Given the description of an element on the screen output the (x, y) to click on. 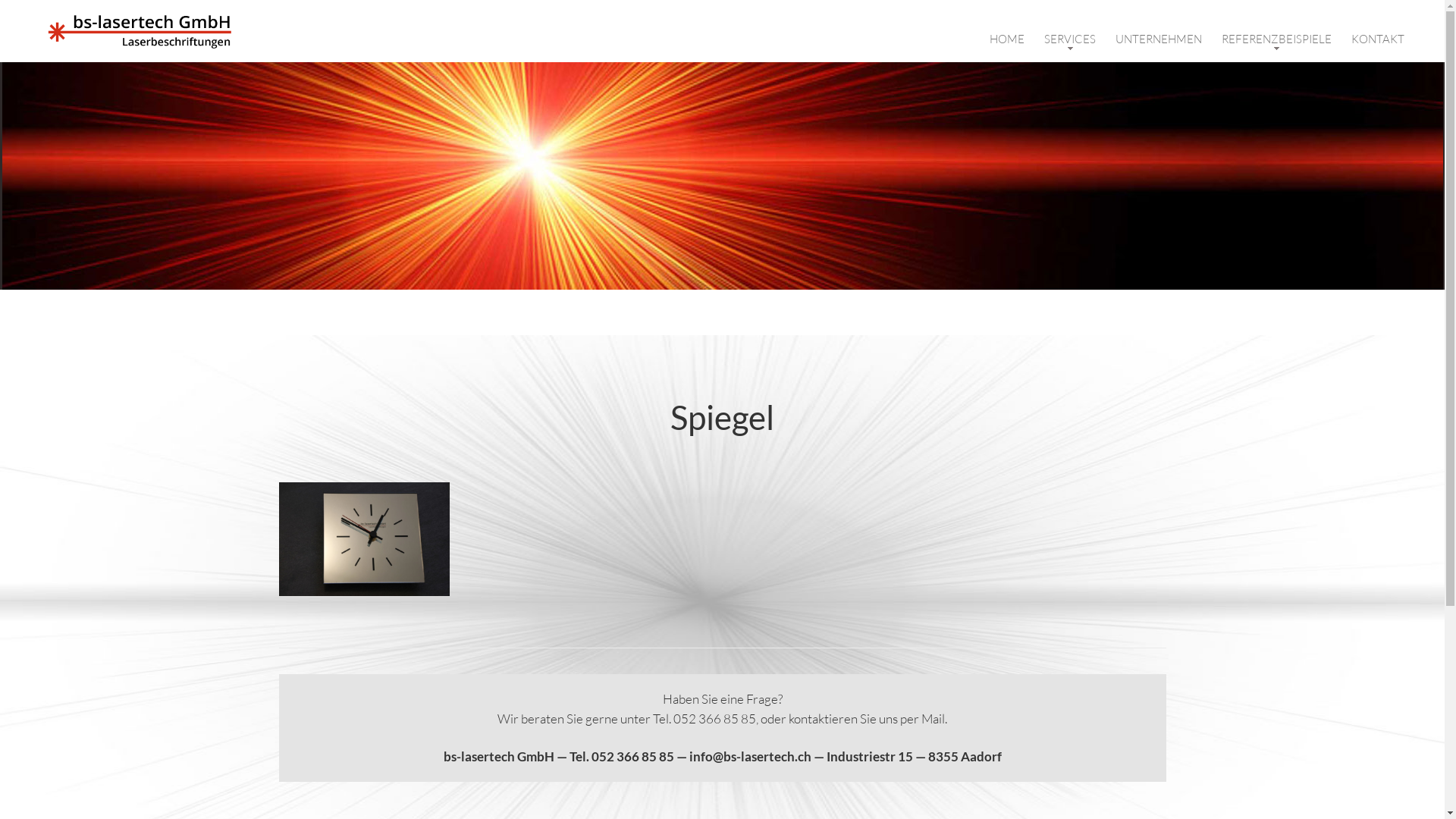
Mail Element type: text (932, 718)
Spiegel mit Firmenlogo und Uhr Element type: hover (364, 539)
UNTERNEHMEN Element type: text (1158, 38)
SERVICES Element type: text (1069, 38)
info@bs-lasertech.ch Element type: text (749, 756)
REFERENZBEISPIELE Element type: text (1276, 38)
KONTAKT Element type: text (1377, 38)
HOME Element type: text (1006, 38)
